Given the description of an element on the screen output the (x, y) to click on. 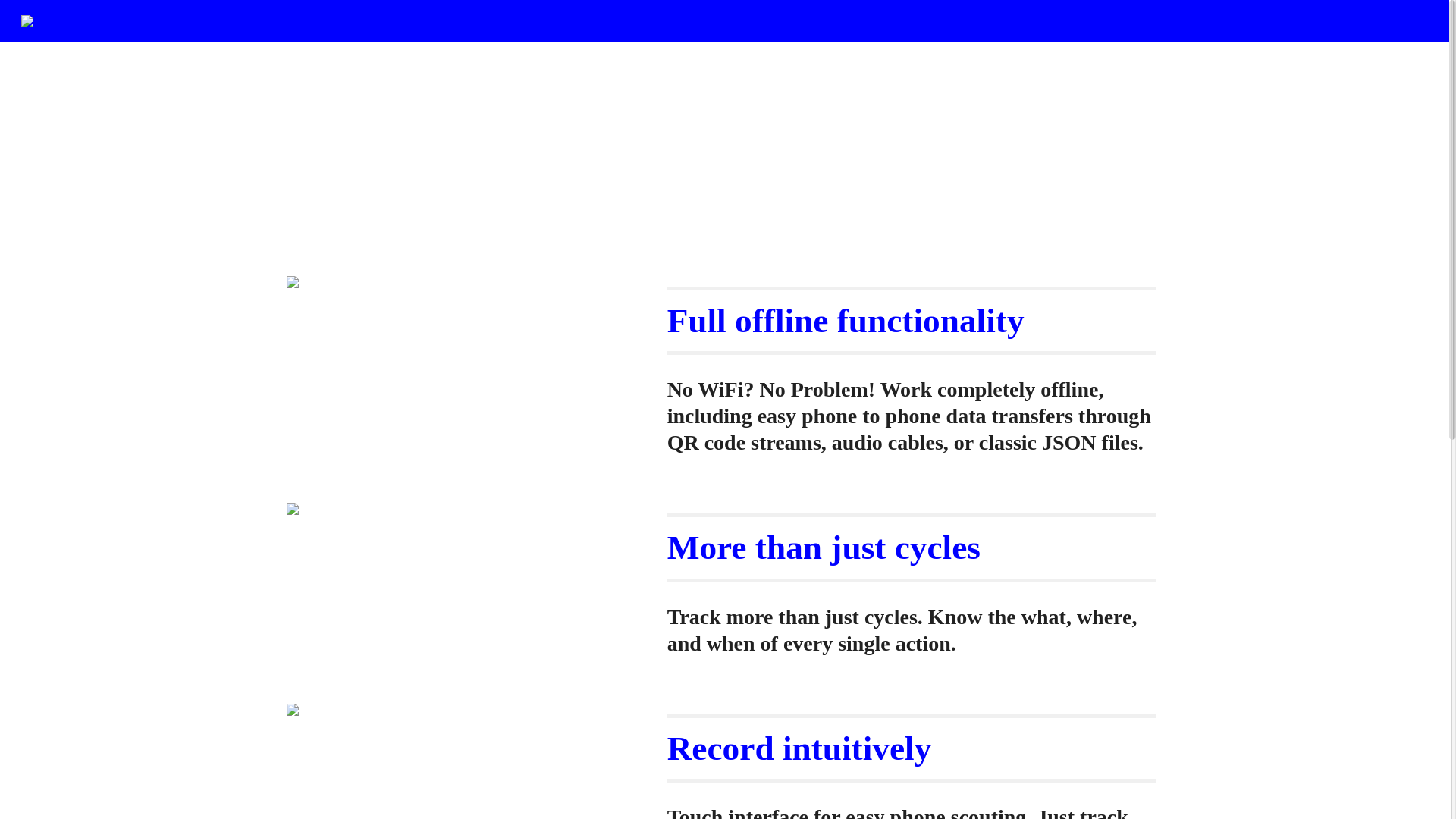
FRC Element type: text (1040, 96)
